Given the description of an element on the screen output the (x, y) to click on. 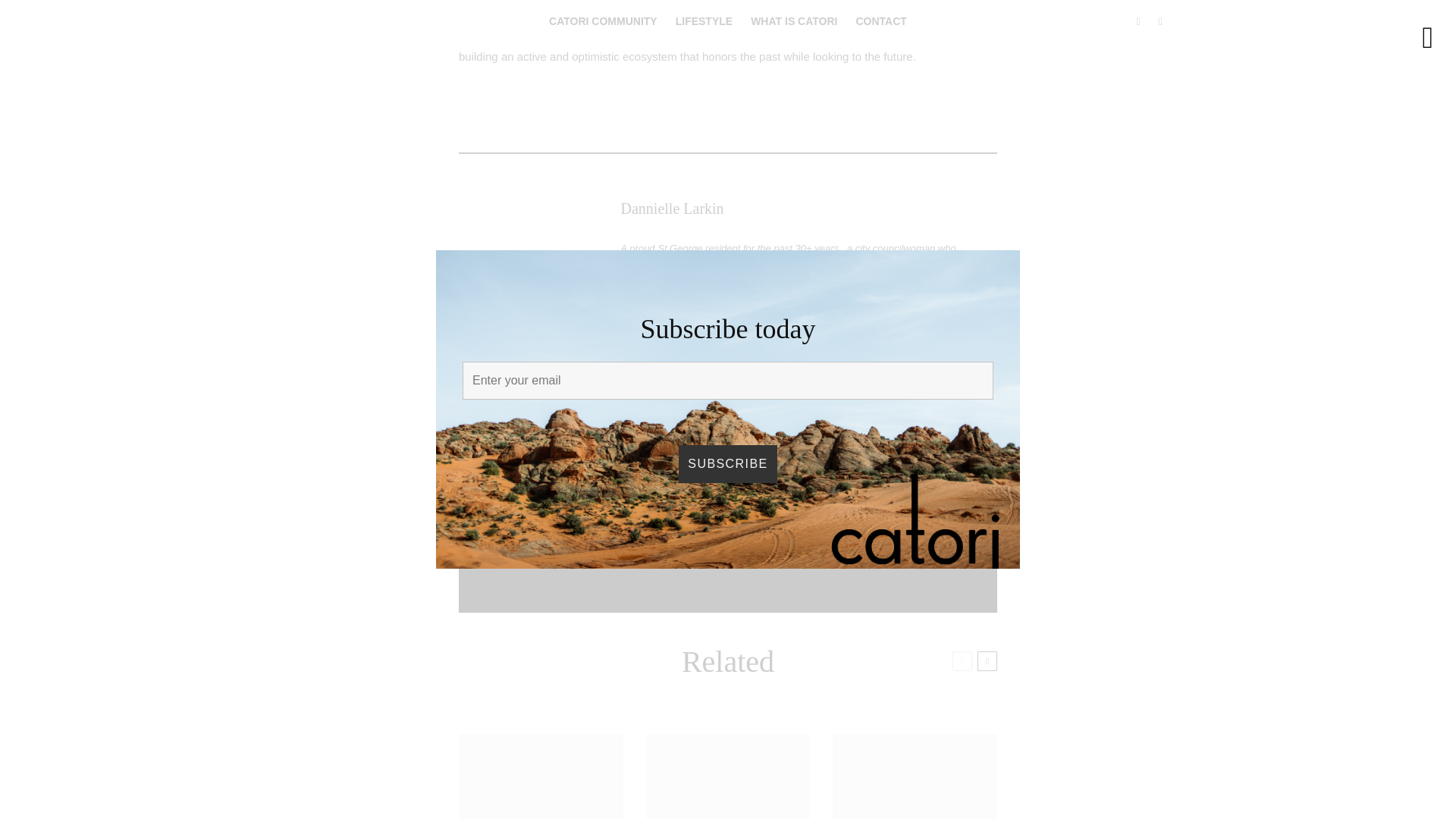
SUBSCRIBE (727, 536)
